Given the description of an element on the screen output the (x, y) to click on. 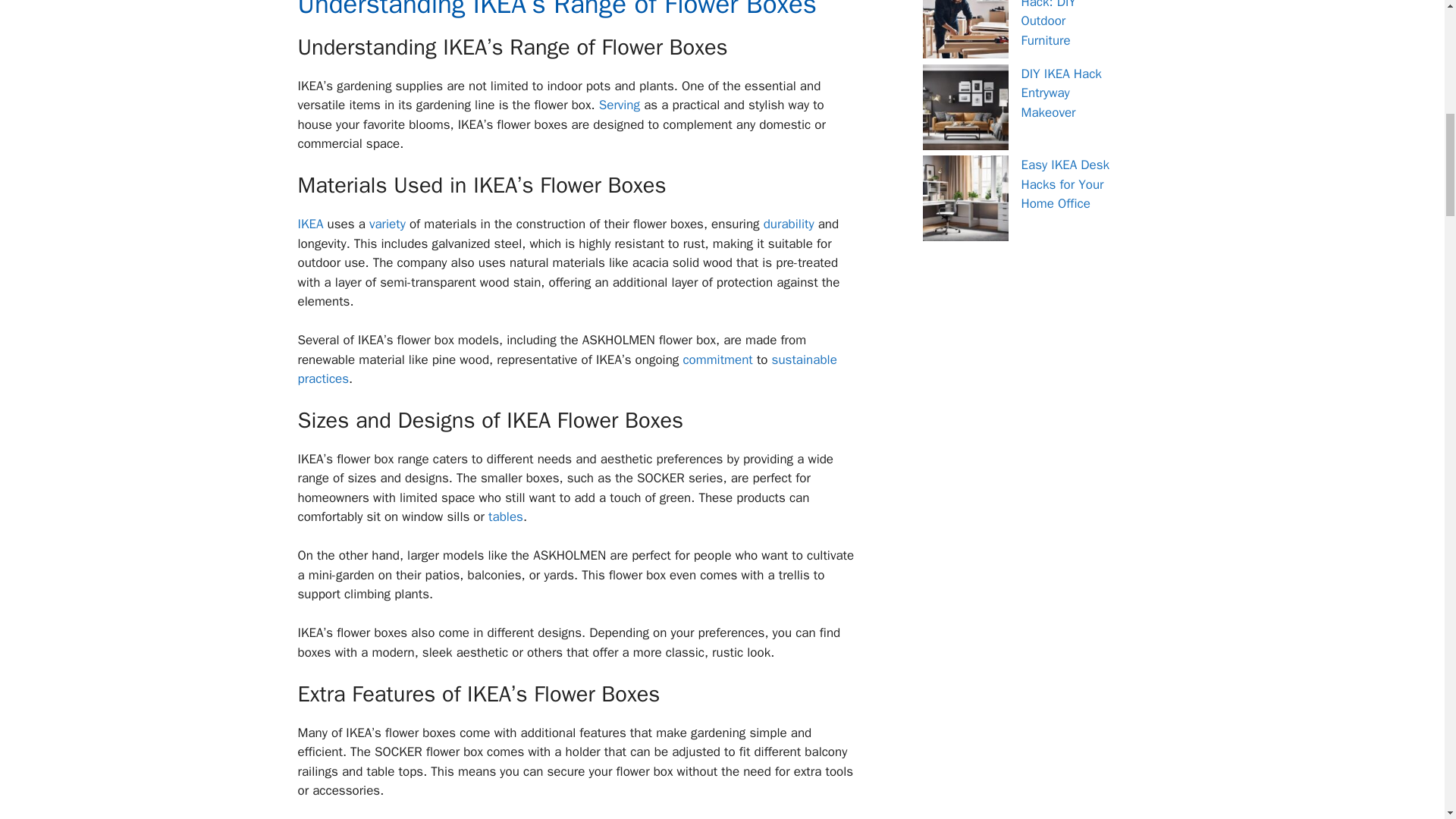
commitment (717, 359)
variety (387, 223)
durability (787, 223)
sustainable practices (566, 369)
tables (504, 516)
IKEA (310, 223)
Serving (619, 105)
